Given the description of an element on the screen output the (x, y) to click on. 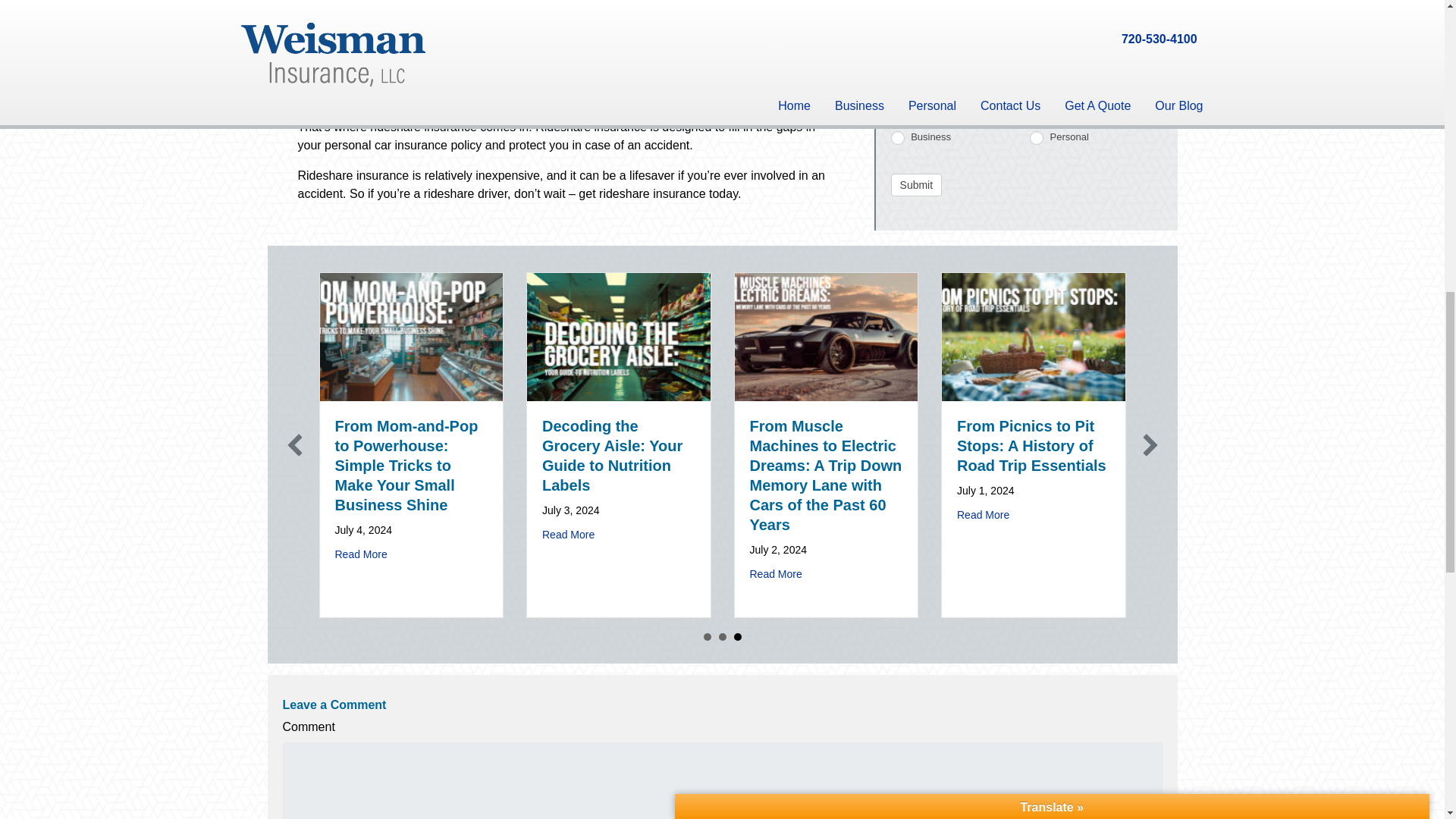
Read More (360, 553)
Read More (567, 534)
Decoding the Grocery Aisle: Your Guide to Nutrition Labels (611, 455)
